Given the description of an element on the screen output the (x, y) to click on. 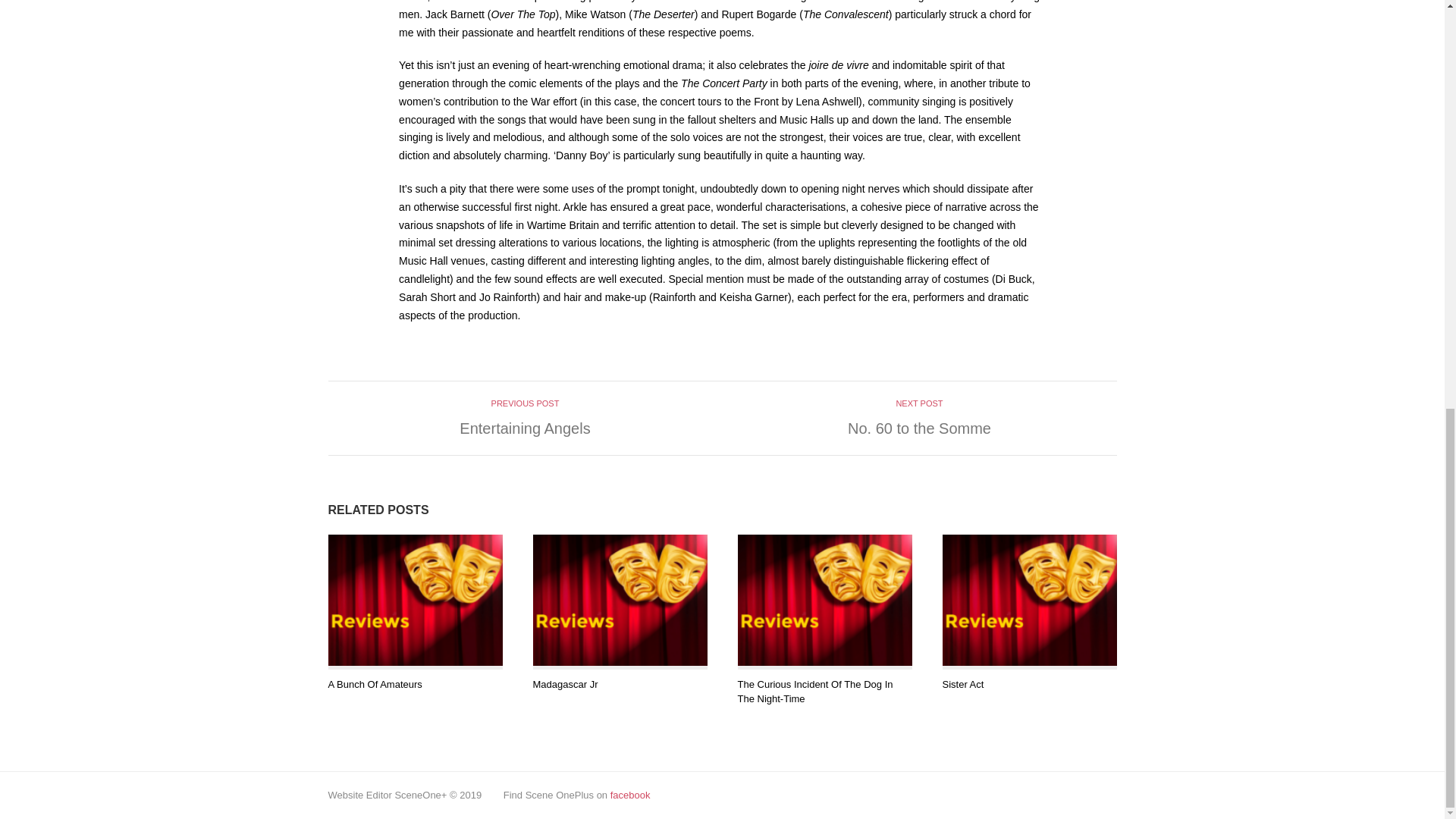
Sister Act (963, 684)
facebook (630, 794)
Entertaining Angels (524, 428)
No. 60 to the Somme (919, 428)
A Bunch Of Amateurs (374, 684)
The Curious Incident Of The Dog In The Night-Time (814, 691)
Scene OnePlus on facebook (630, 794)
Madagascar Jr (564, 684)
